Given the description of an element on the screen output the (x, y) to click on. 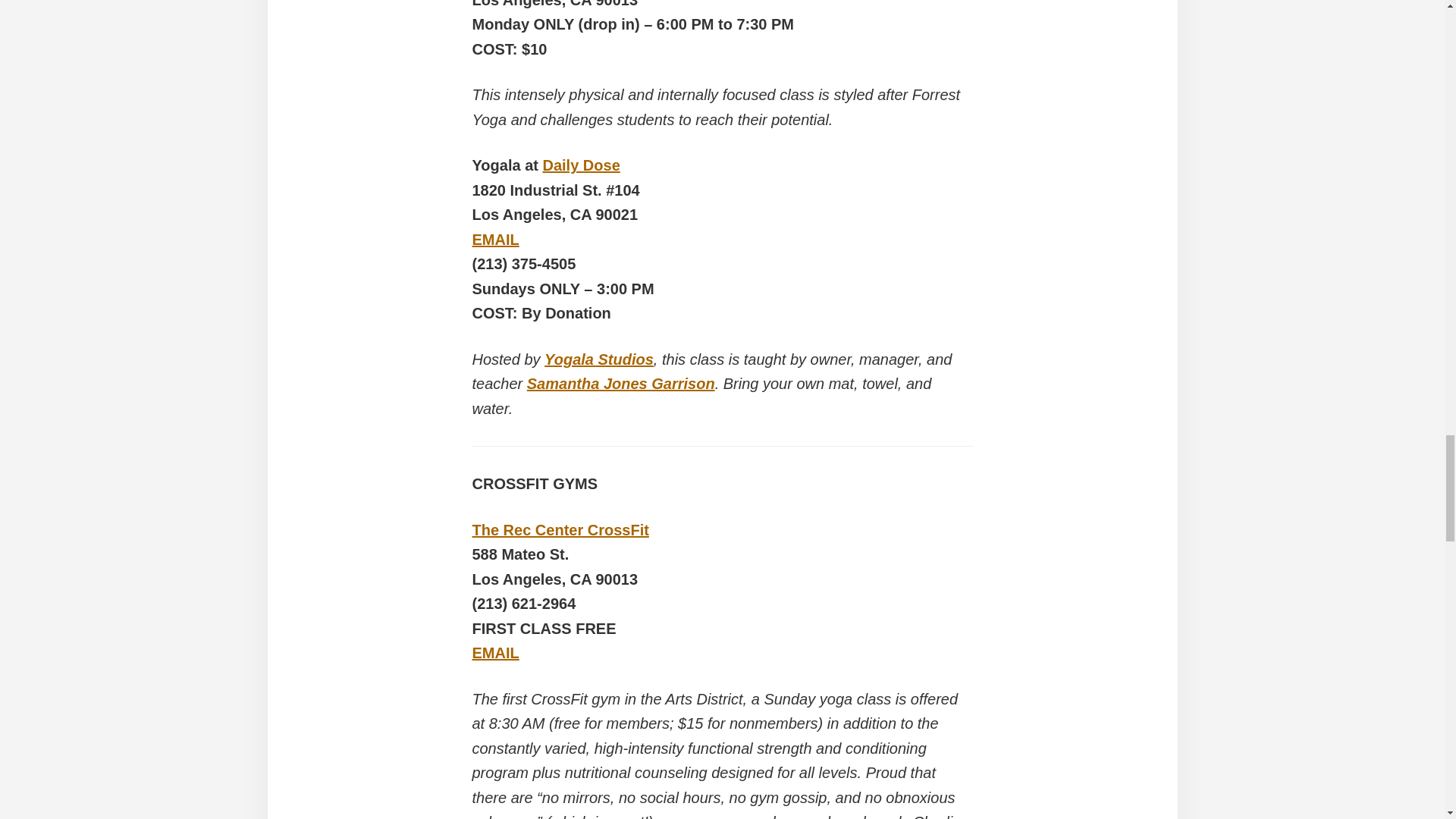
Yogala Studios (598, 359)
Samantha Jones Garrison (620, 383)
EMAIL (494, 239)
Daily Dose (581, 165)
